Given the description of an element on the screen output the (x, y) to click on. 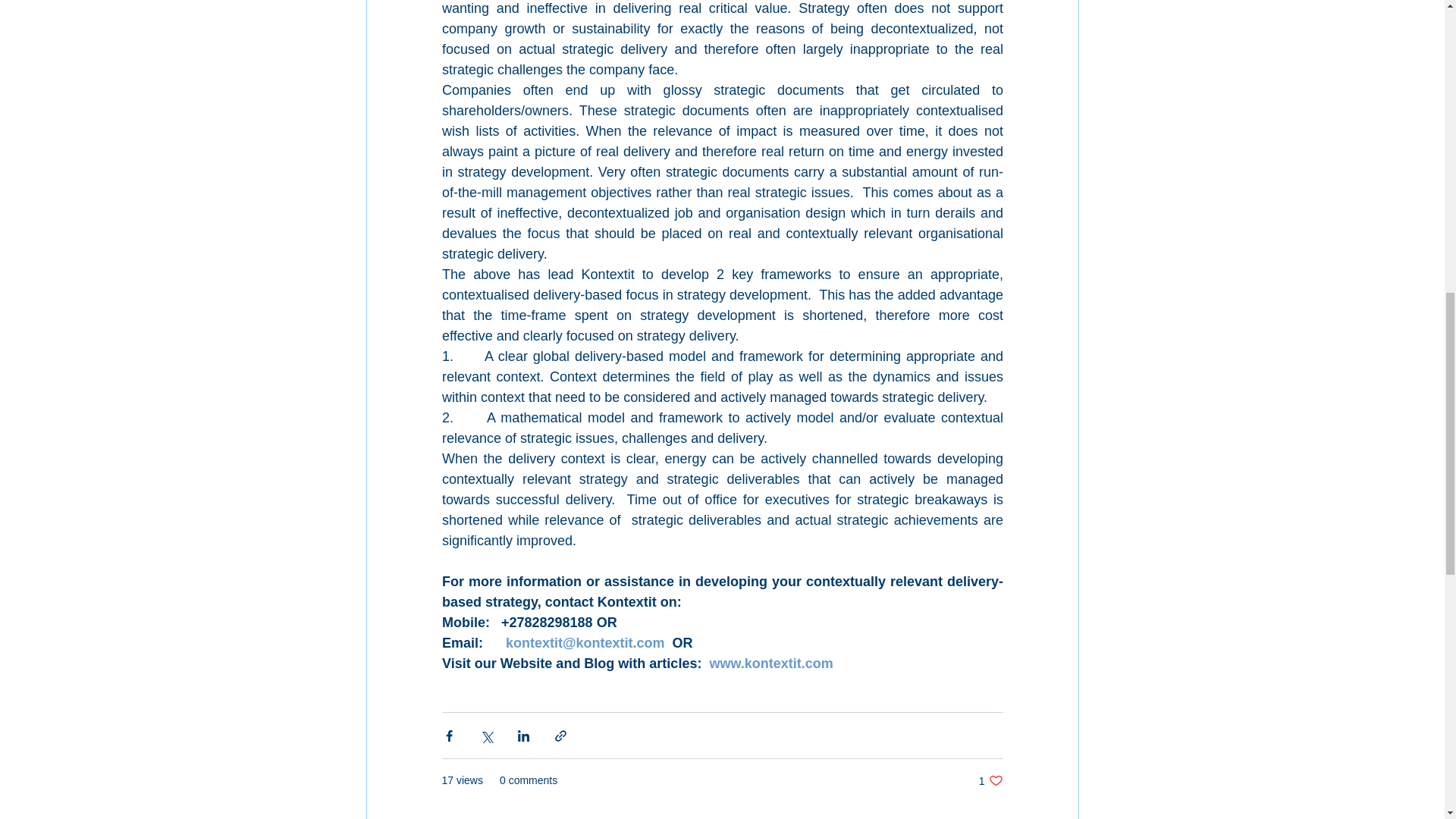
www.kontextit.com (990, 780)
